Given the description of an element on the screen output the (x, y) to click on. 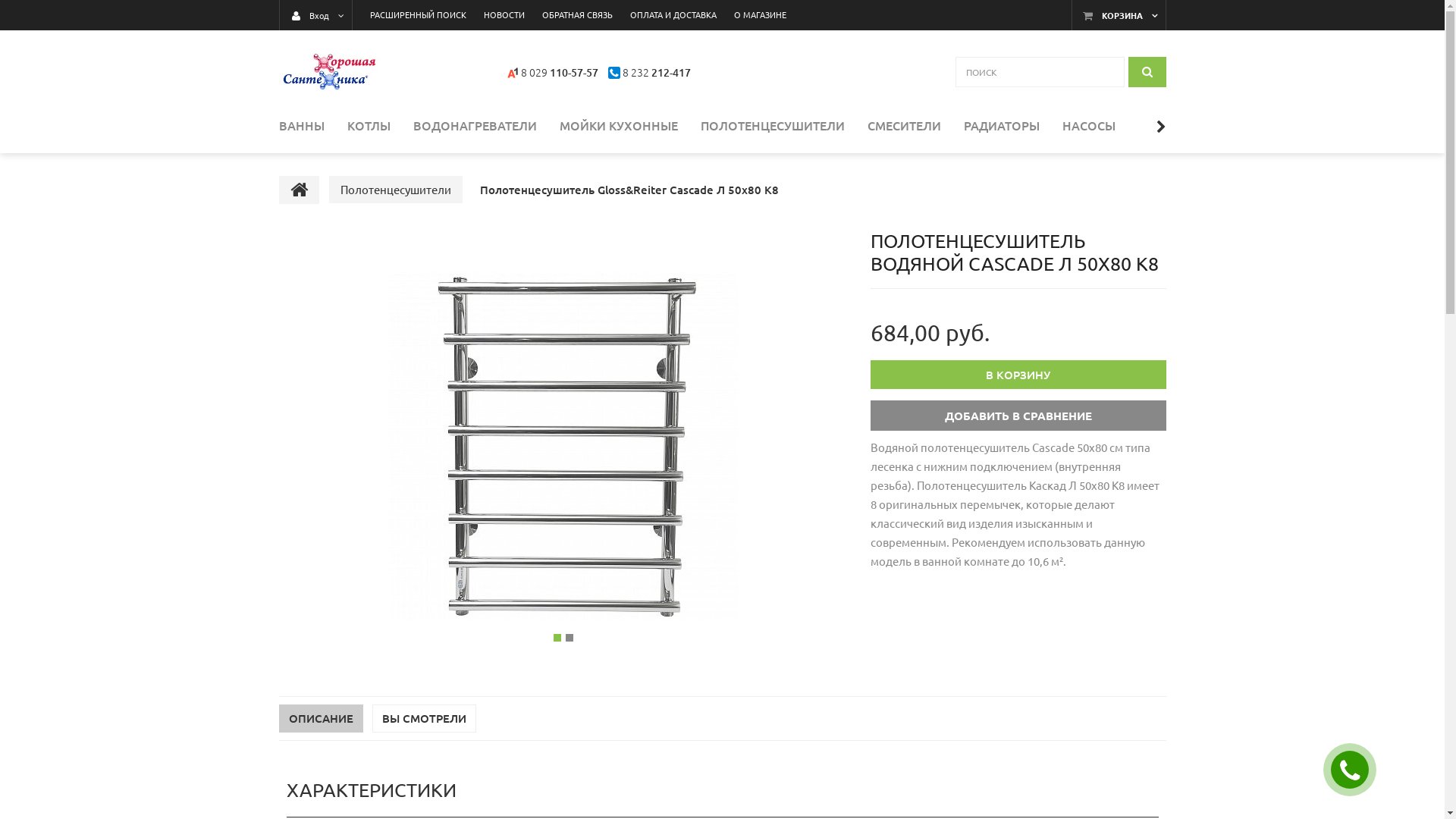
0 Element type: text (557, 637)
0 Element type: text (569, 637)
